Given the description of an element on the screen output the (x, y) to click on. 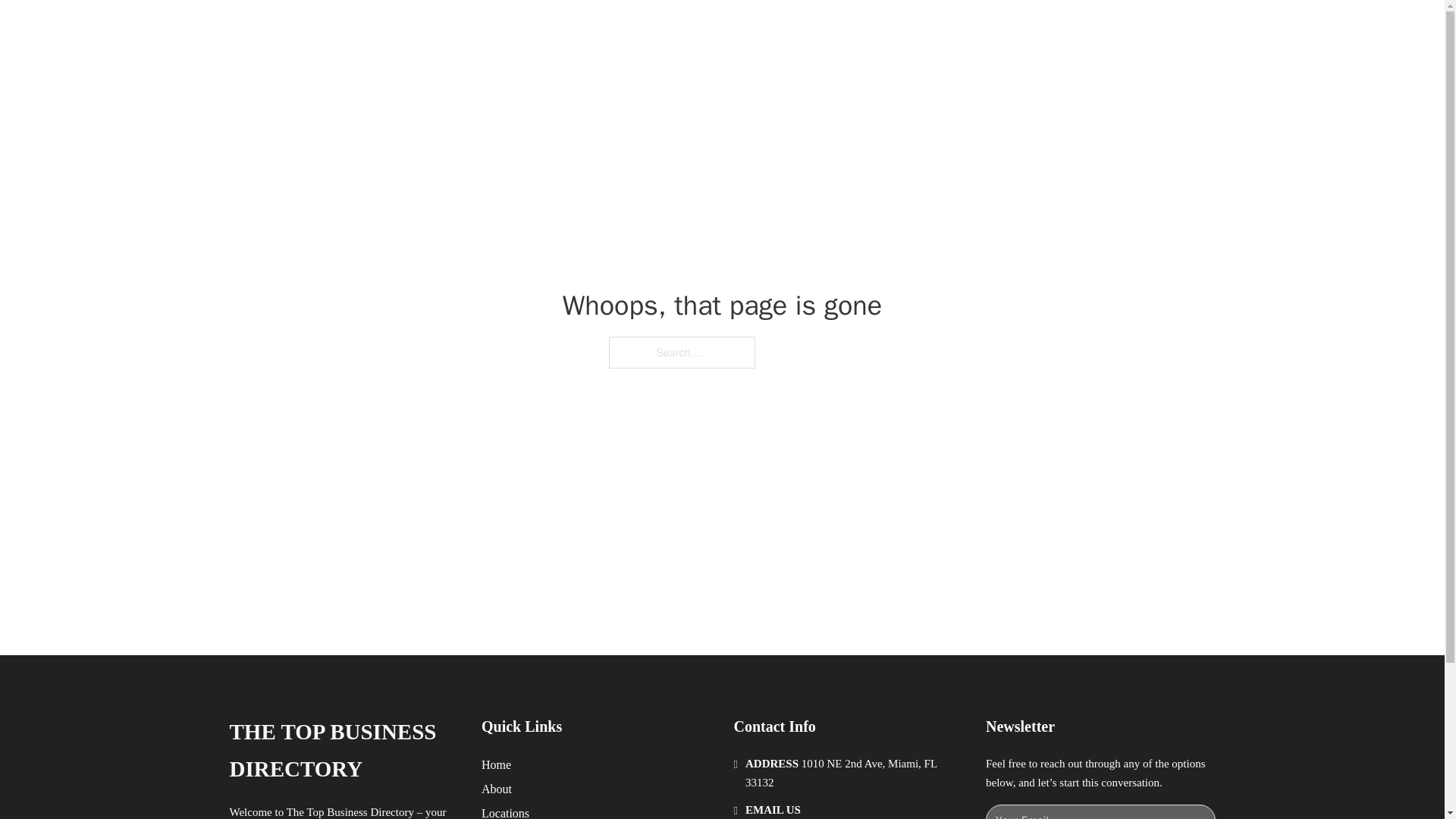
THE TOP BUSINESS DIRECTORY (343, 750)
Locations (505, 811)
Home (496, 764)
About (496, 788)
HOME (907, 29)
THE TOP BUSINESS DIRECTORY (463, 28)
LOCATIONS (978, 29)
